Given the description of an element on the screen output the (x, y) to click on. 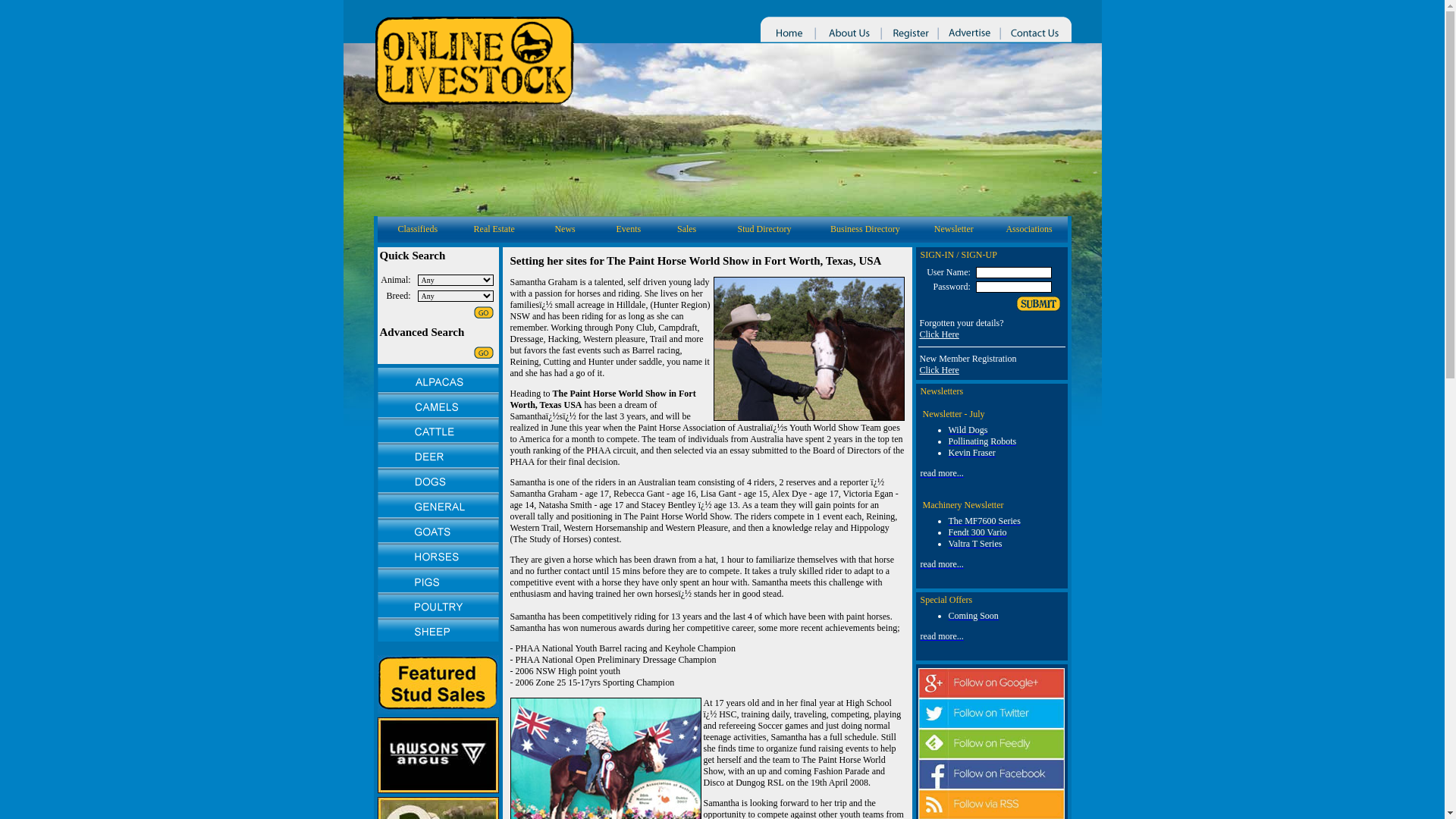
read more... Element type: text (941, 472)
Associations Element type: text (1028, 228)
Coming Soon Element type: text (972, 615)
Kevin Fraser Element type: text (970, 452)
The MF7600 Series Element type: text (983, 520)
Newsletter Element type: text (953, 228)
Business Directory Element type: text (865, 228)
Click Here Element type: text (938, 369)
Classifieds Element type: text (417, 228)
Real Estate Element type: text (493, 228)
Click Here Element type: text (938, 334)
Fendt 300 Vario Element type: text (976, 532)
Wild Dogs Element type: text (967, 429)
Valtra T Series Element type: text (974, 543)
Sales Element type: text (686, 228)
read more... Element type: text (941, 563)
Events Element type: text (628, 228)
Pollinating Robots Element type: text (981, 441)
News Element type: text (564, 228)
Stud Directory Element type: text (764, 228)
read more... Element type: text (941, 635)
